Given the description of an element on the screen output the (x, y) to click on. 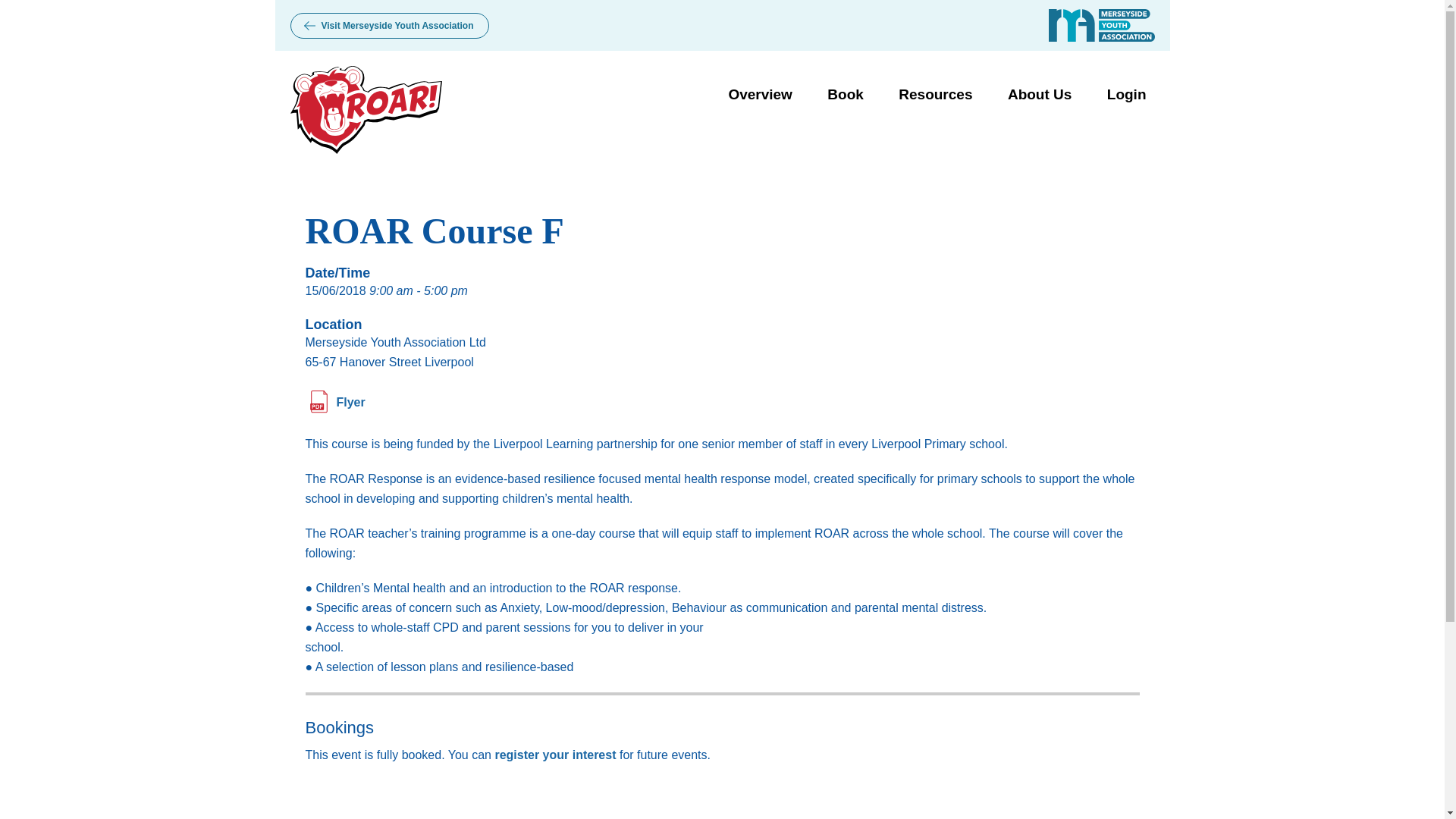
Overview (759, 94)
Book (844, 94)
About Us (1039, 94)
Flyer (334, 401)
register your interest (555, 754)
Resources (934, 94)
Login (1126, 94)
Visit Merseyside Youth Association (389, 25)
